Given the description of an element on the screen output the (x, y) to click on. 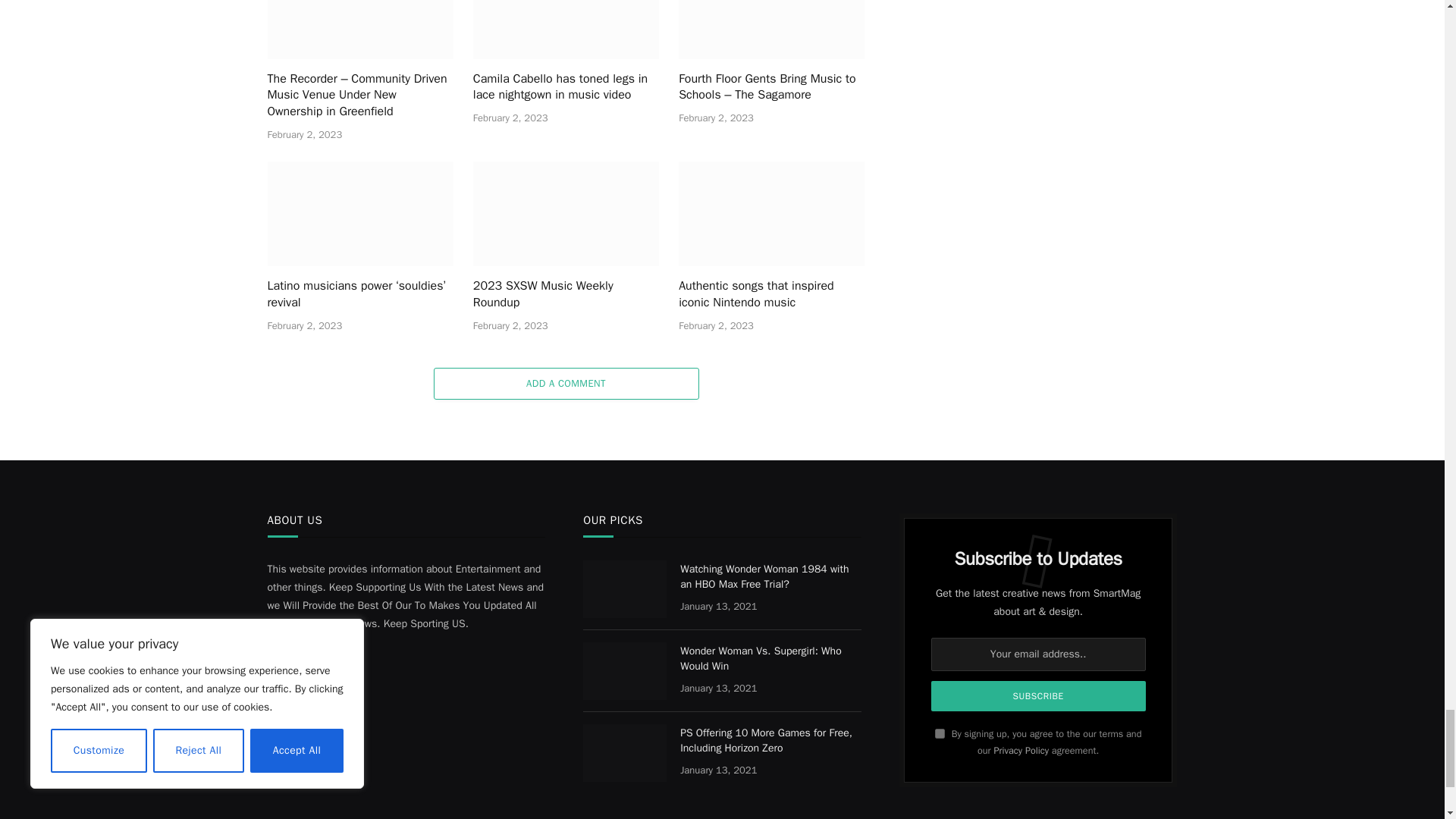
Subscribe (1038, 695)
on (939, 733)
